Given the description of an element on the screen output the (x, y) to click on. 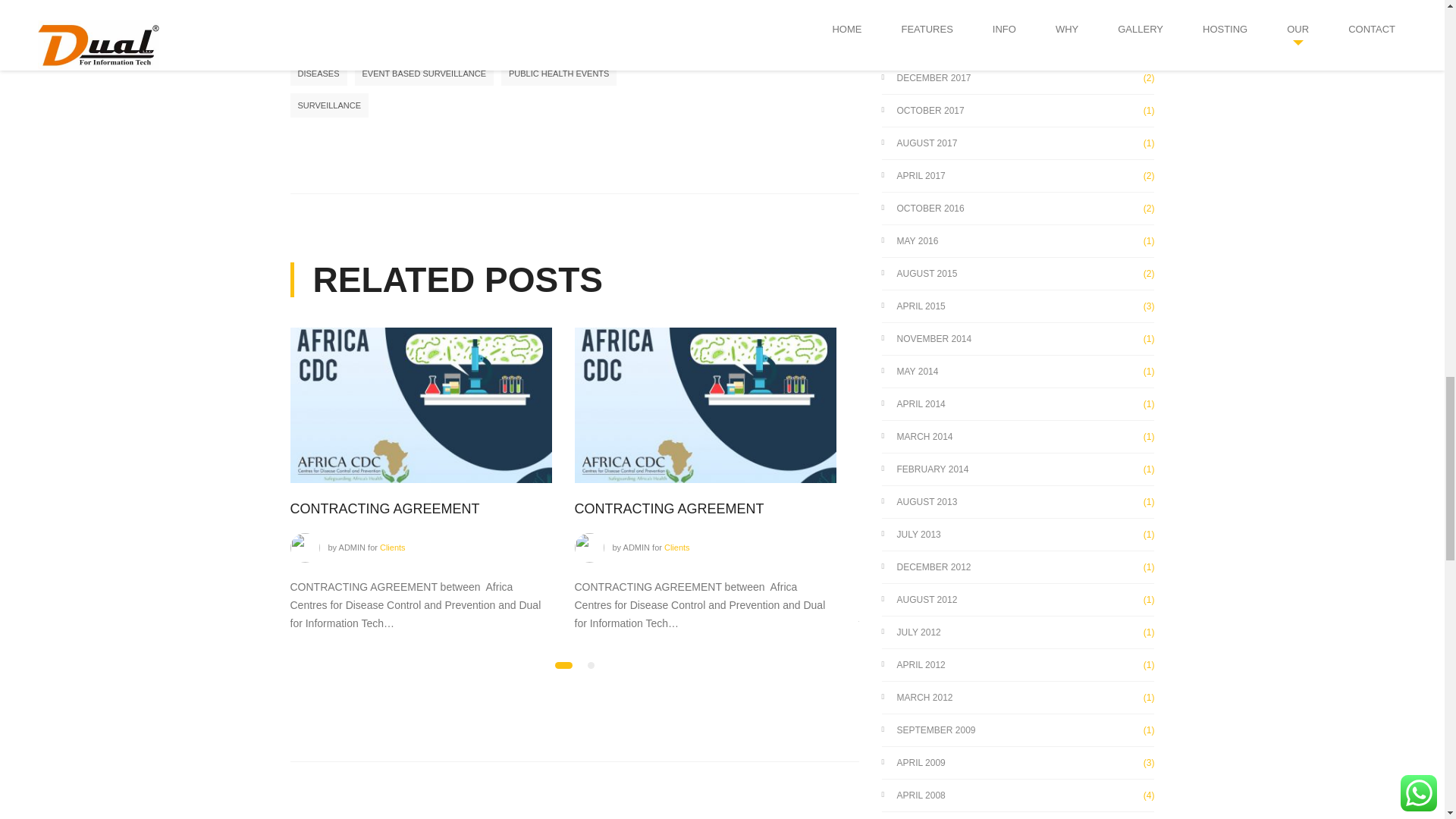
SURVEILLANCE (328, 105)
PUBLIC HEALTH EVENTS (557, 73)
AFRICA (358, 41)
DISASTERS (614, 41)
EVENT BASED SURVEILLANCE (424, 73)
AFRICA CDC (422, 41)
DISASTER PREVENTION (519, 41)
DISEASES (317, 73)
